Given the description of an element on the screen output the (x, y) to click on. 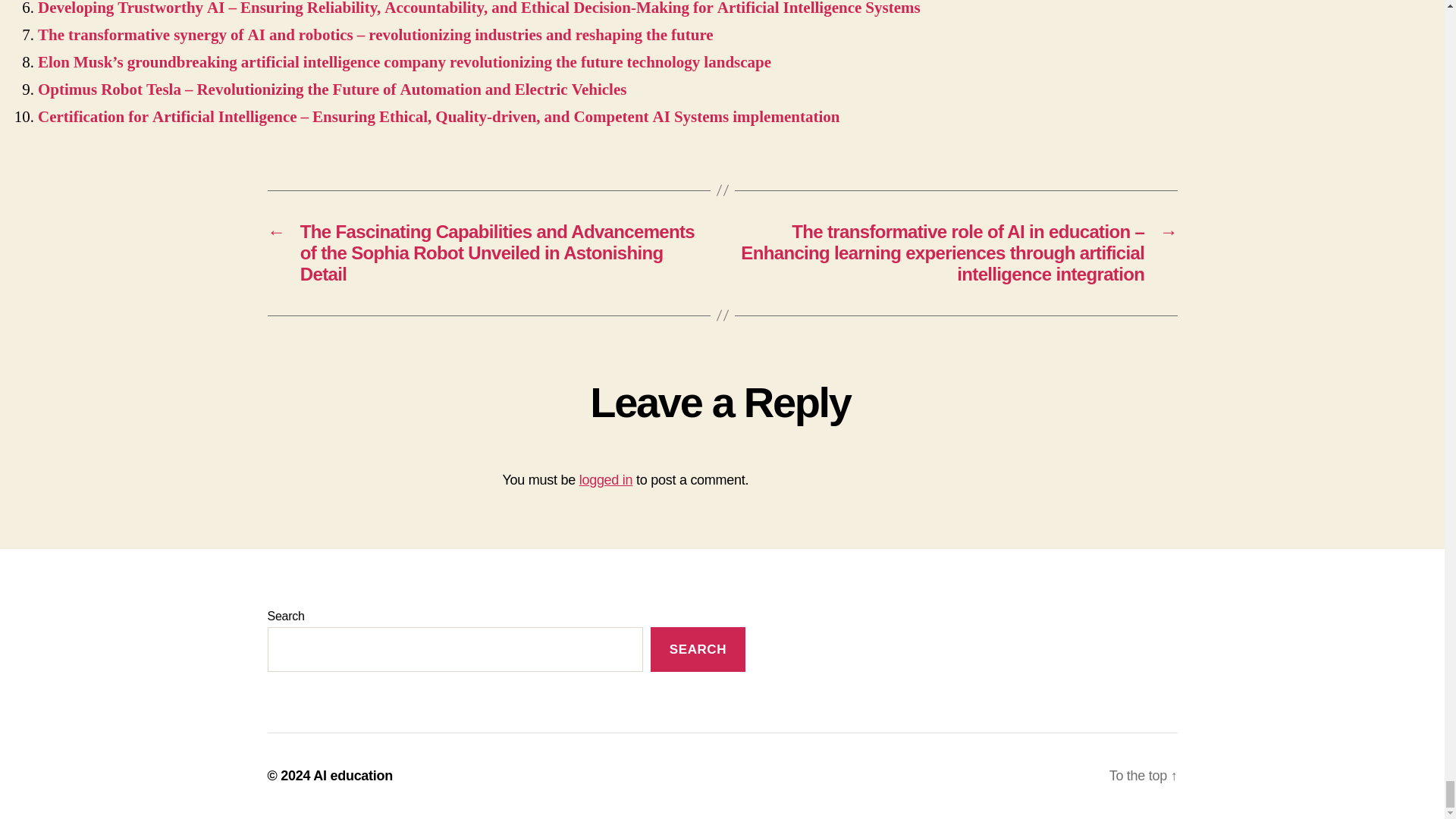
logged in (606, 479)
SEARCH (697, 649)
AI education (353, 775)
